Given the description of an element on the screen output the (x, y) to click on. 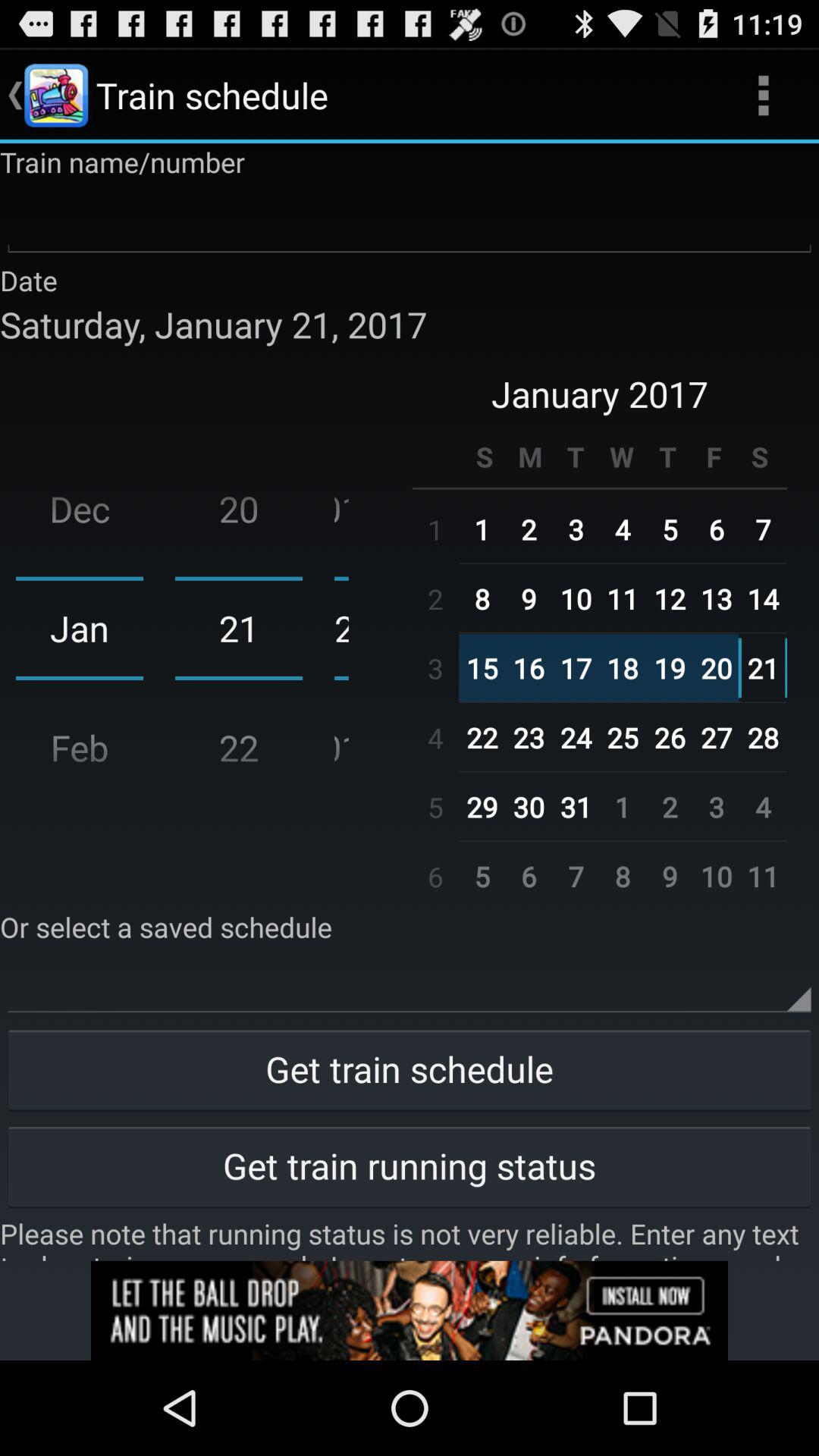
click on advertisement (409, 1310)
